Given the description of an element on the screen output the (x, y) to click on. 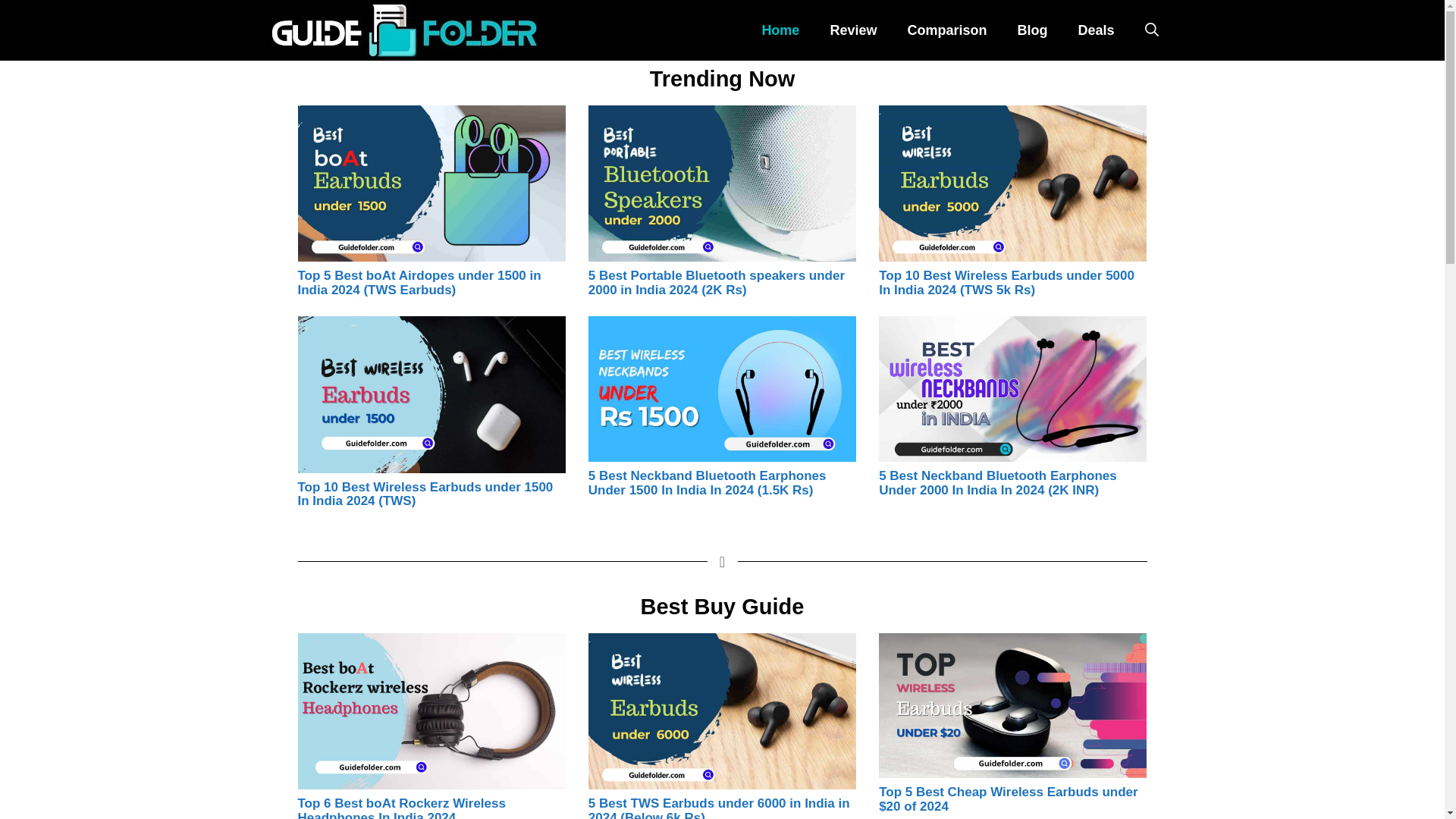
Top 6 Best boAt Rockerz Wireless Headphones In India 2024 (401, 807)
Home (779, 30)
Comparison (946, 30)
Deals (1095, 30)
Blog (1031, 30)
Review (852, 30)
